Given the description of an element on the screen output the (x, y) to click on. 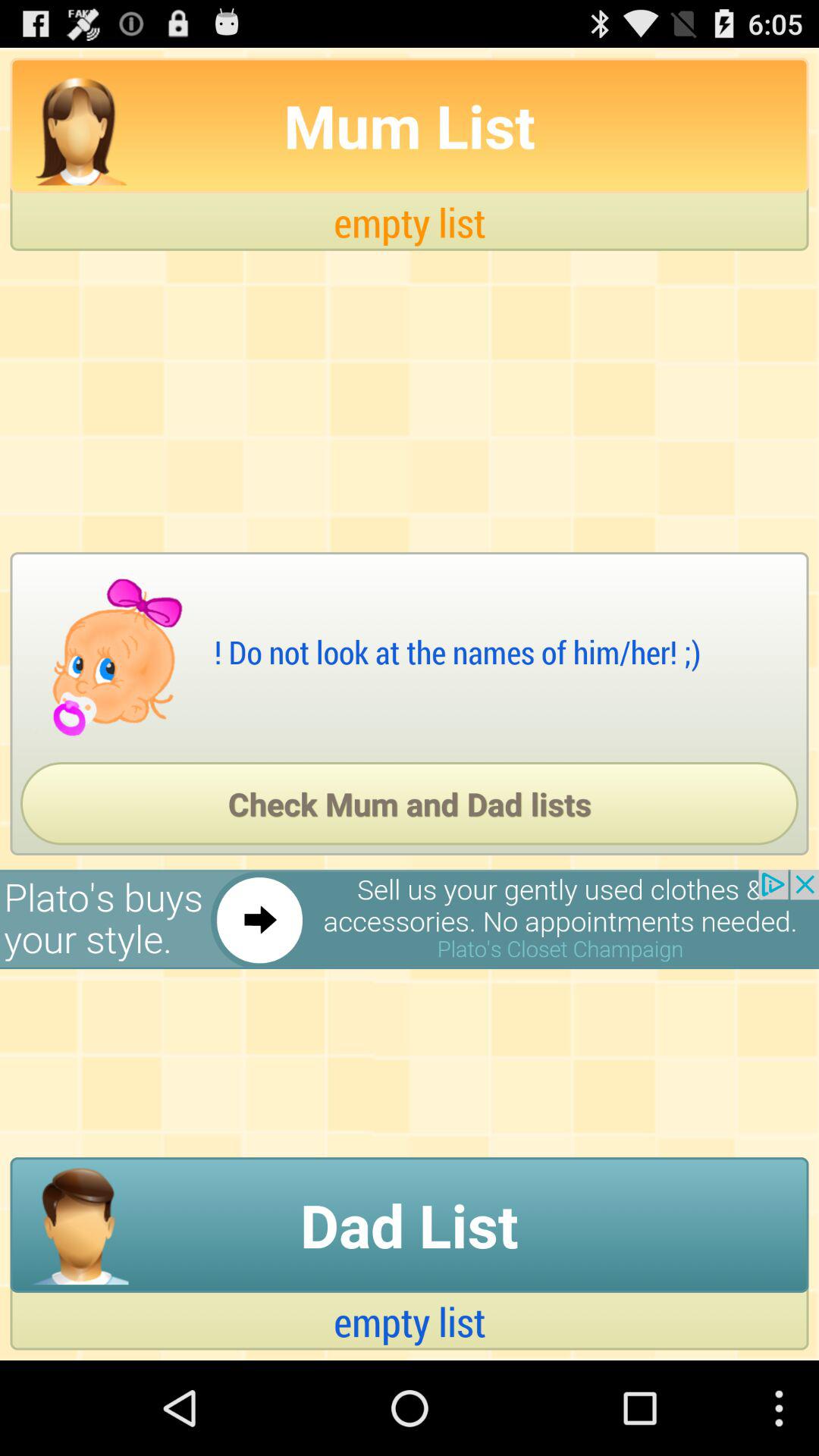
advertisement (409, 919)
